Given the description of an element on the screen output the (x, y) to click on. 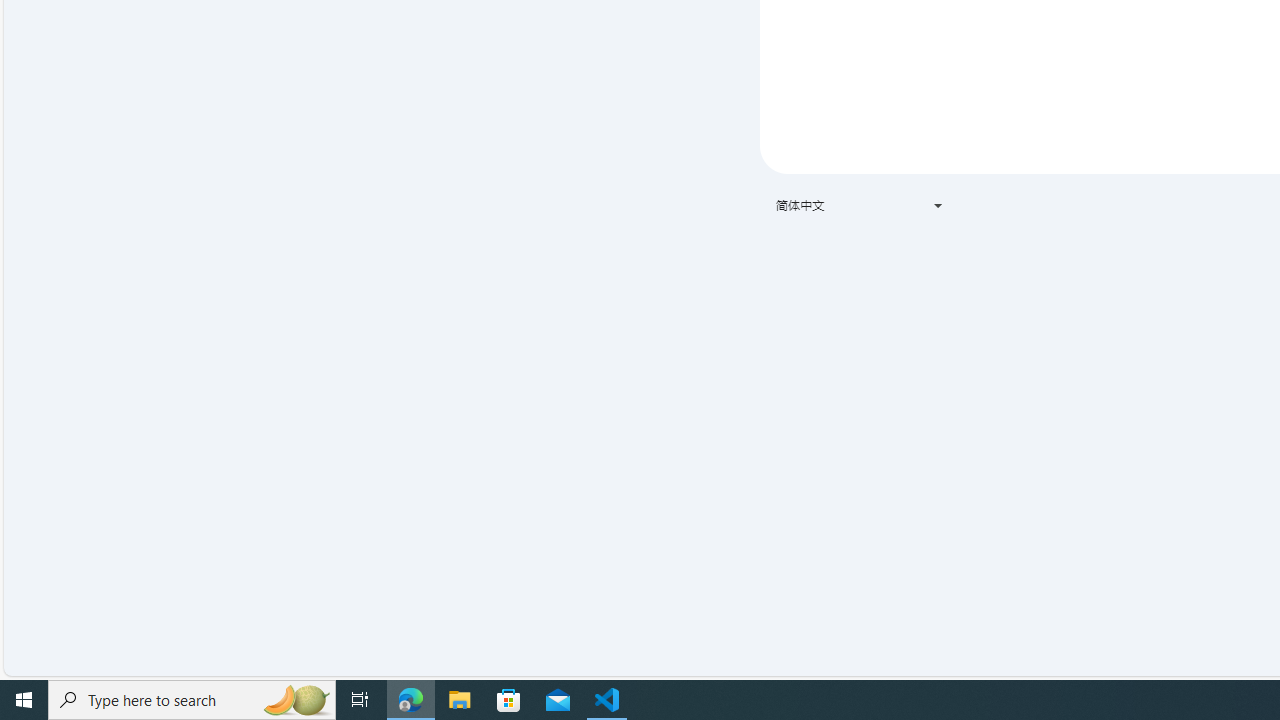
Class: VfPpkd-t08AT-Bz112c-Bd00G (938, 205)
